Given the description of an element on the screen output the (x, y) to click on. 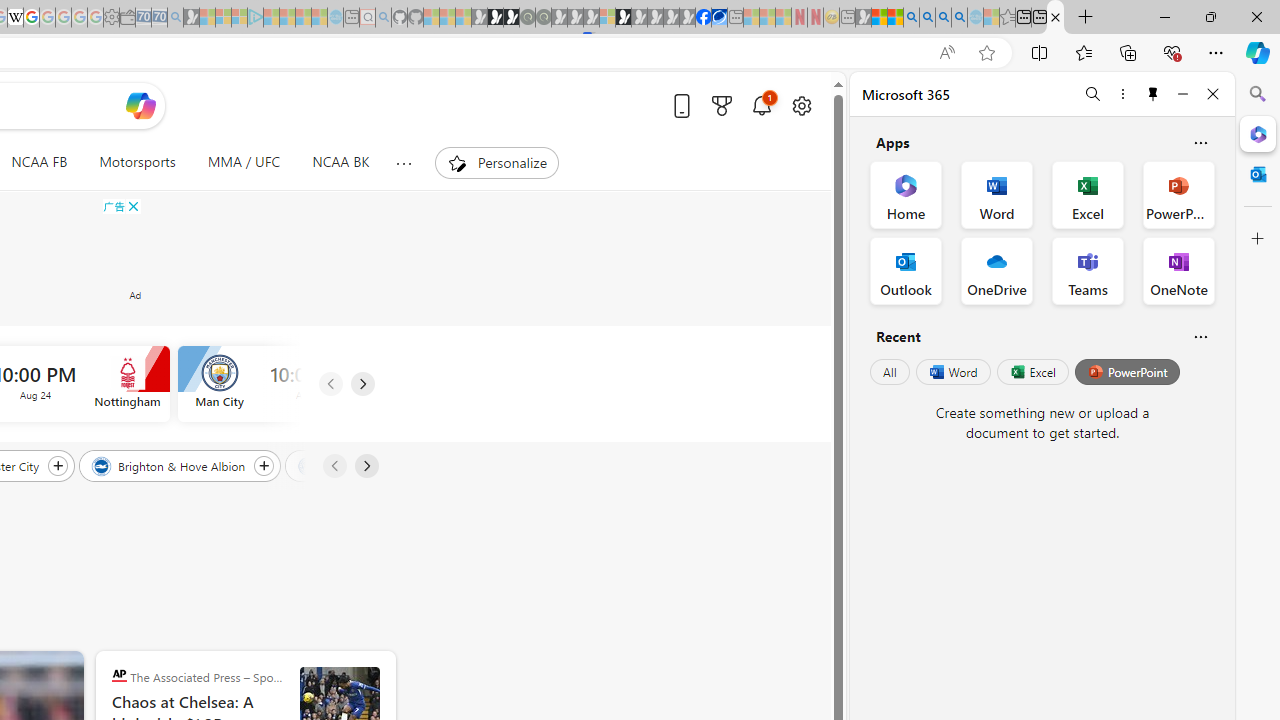
Play Zoo Boom in your browser | Games from Microsoft Start (495, 17)
Home Office App (906, 194)
Follow Manchester City (57, 465)
MSN - Sleeping (863, 17)
